Given the description of an element on the screen output the (x, y) to click on. 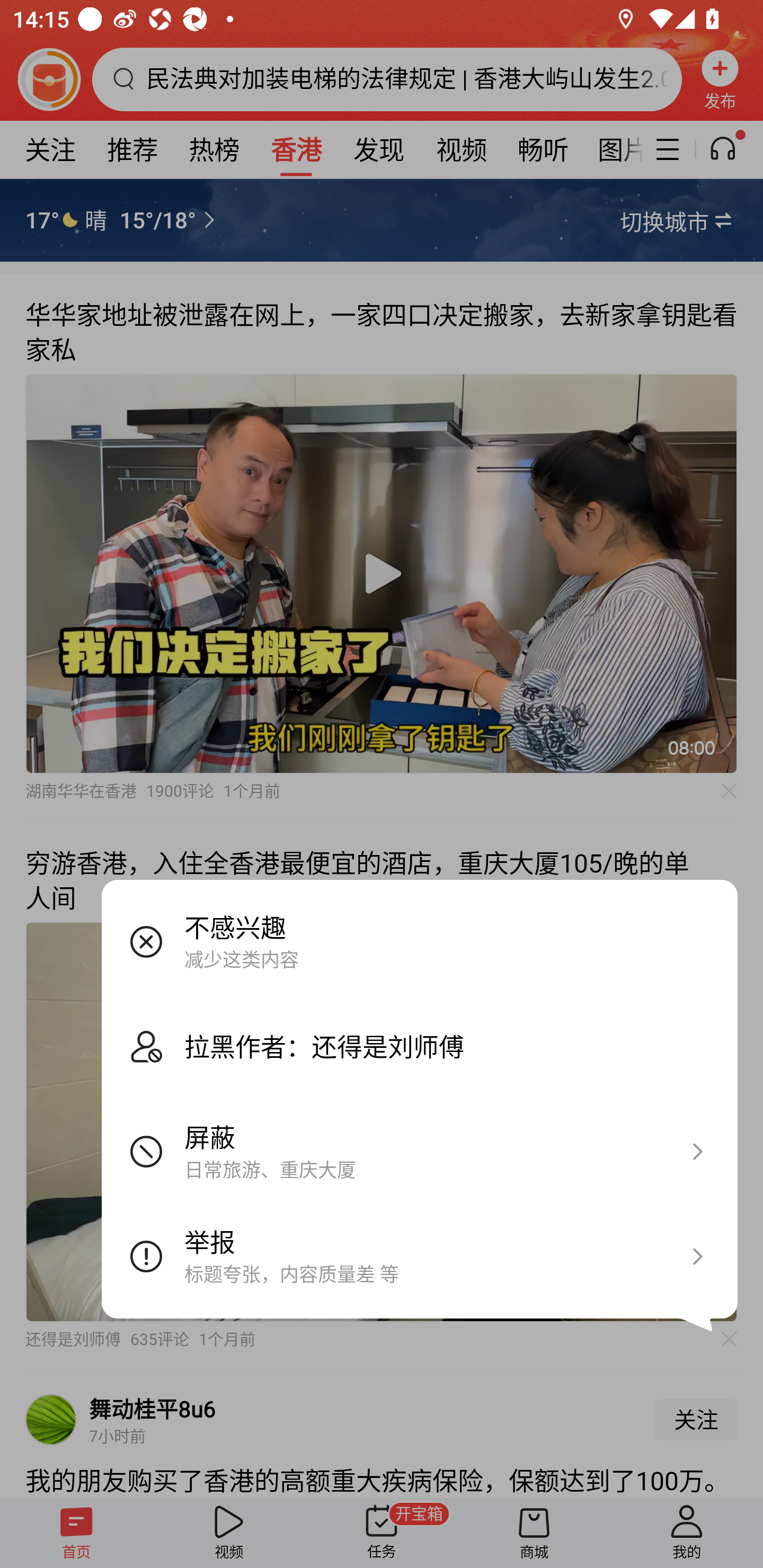
不感兴趣 减少这类内容 (419, 941)
拉黑作者：还得是刘师傅 (419, 1046)
屏蔽 日常旅游、重庆大厦 (419, 1151)
举报 标题夸张，内容质量差 等 (419, 1256)
